Given the description of an element on the screen output the (x, y) to click on. 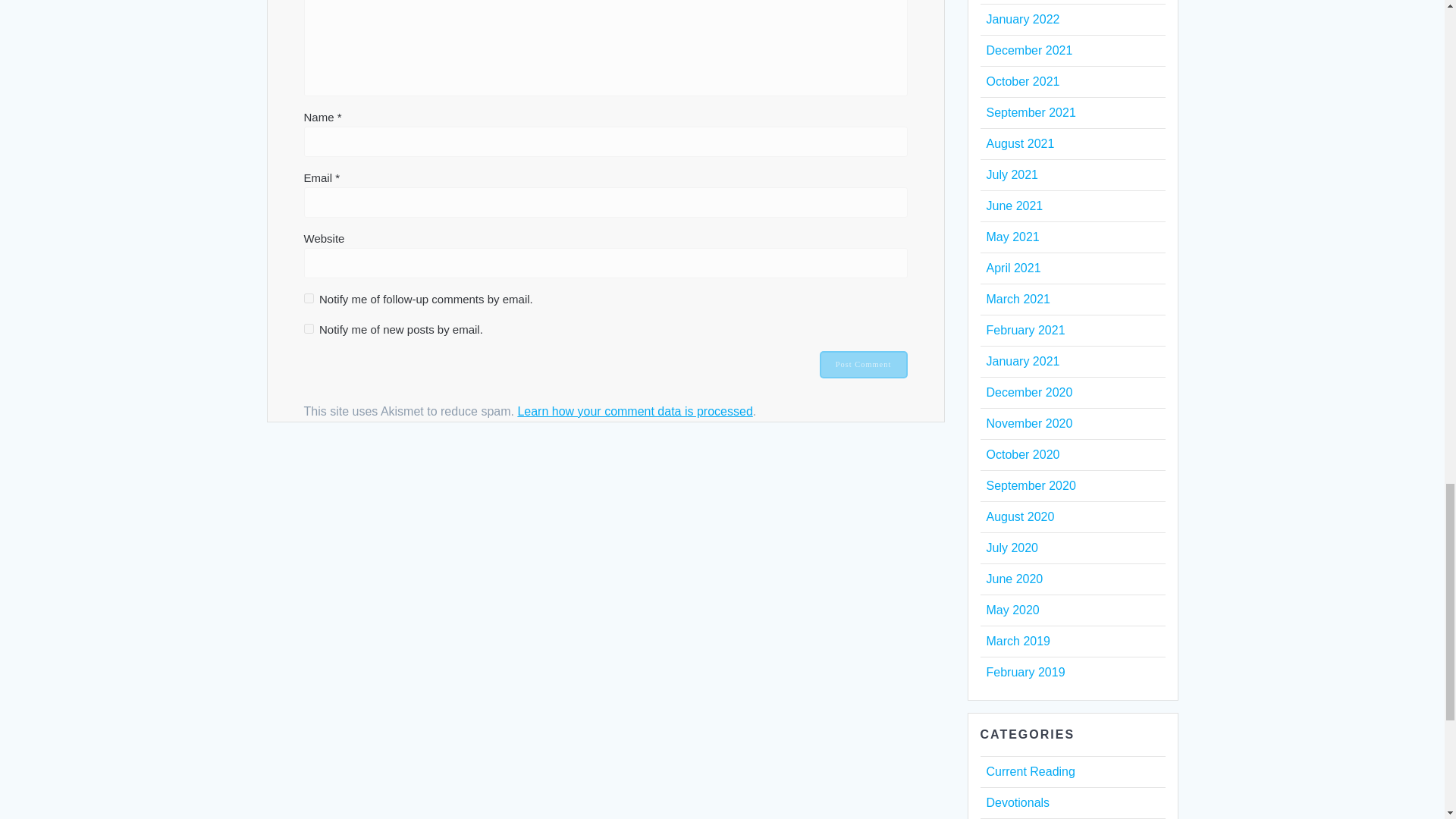
Learn how your comment data is processed (634, 410)
subscribe (307, 298)
Post Comment (863, 364)
subscribe (307, 328)
Post Comment (863, 364)
